Given the description of an element on the screen output the (x, y) to click on. 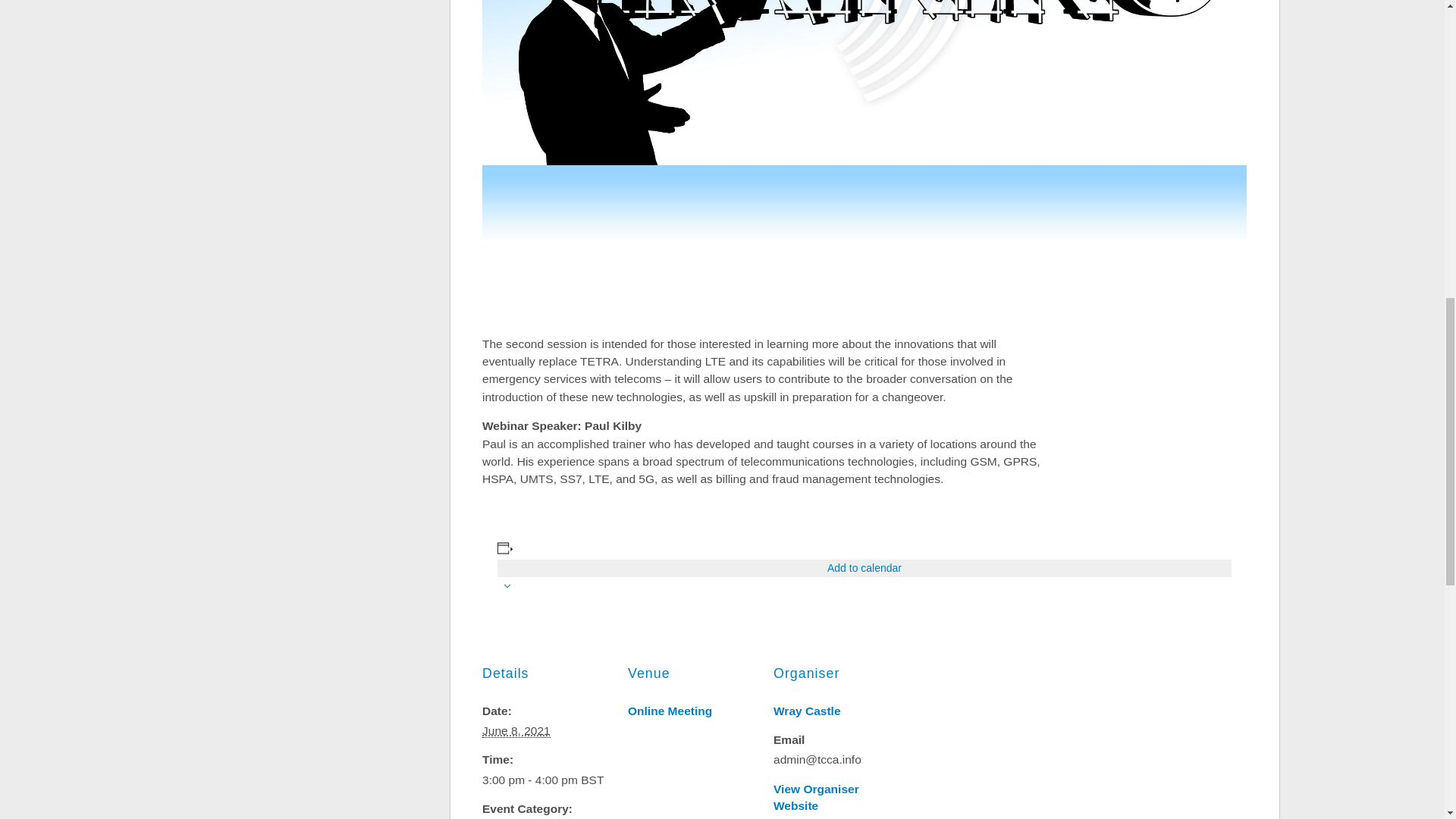
2021-06-08 (515, 730)
Wray Castle (807, 710)
2021-06-08 (545, 780)
